Given the description of an element on the screen output the (x, y) to click on. 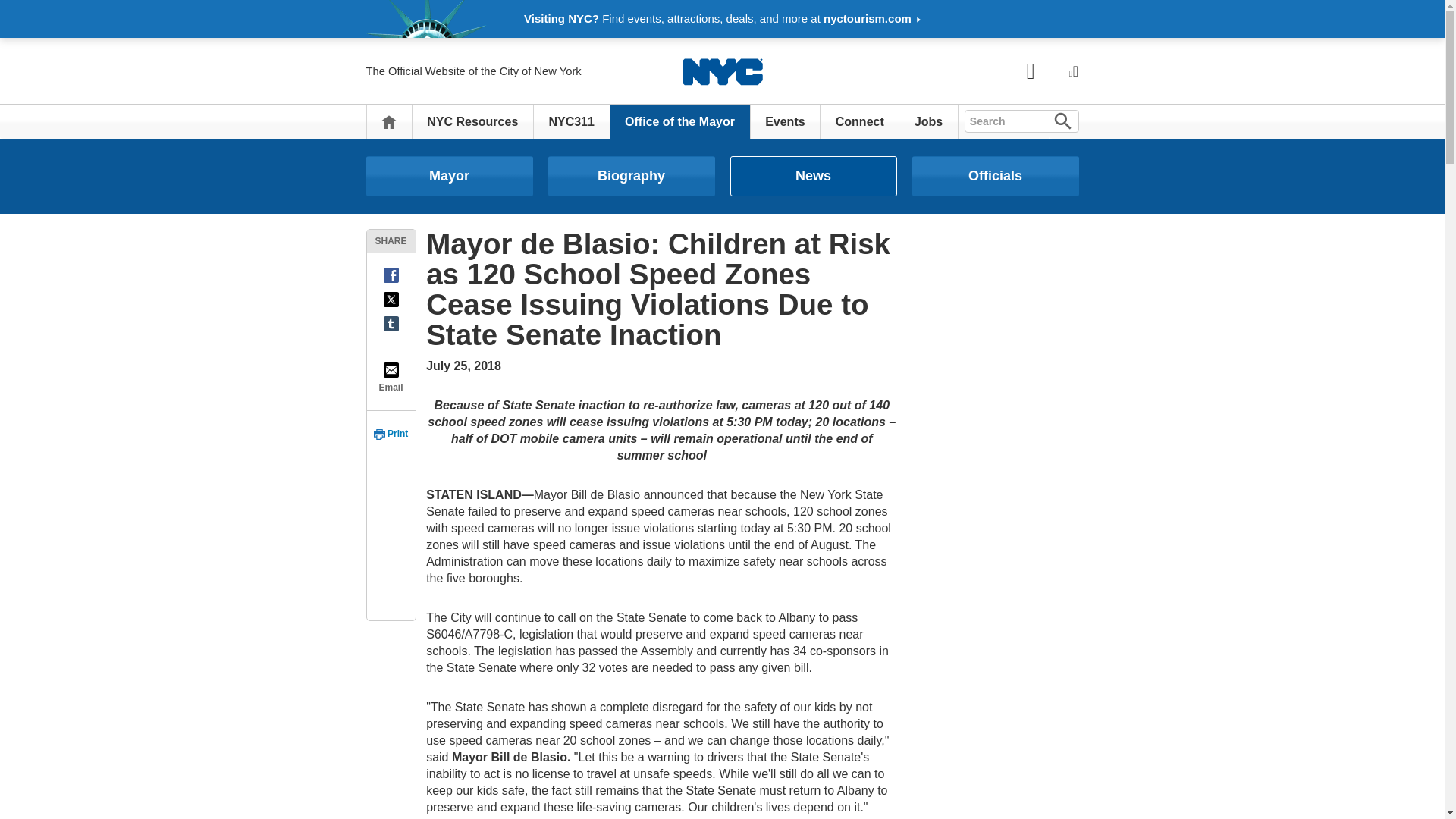
Officials (994, 176)
Events (785, 121)
Mayor (448, 176)
Office of the Mayor (679, 121)
NYC311 (571, 121)
Biography (630, 176)
nyctourism.com (872, 18)
Print (390, 433)
News (812, 176)
NYC Resources (472, 121)
Connect (859, 121)
